Given the description of an element on the screen output the (x, y) to click on. 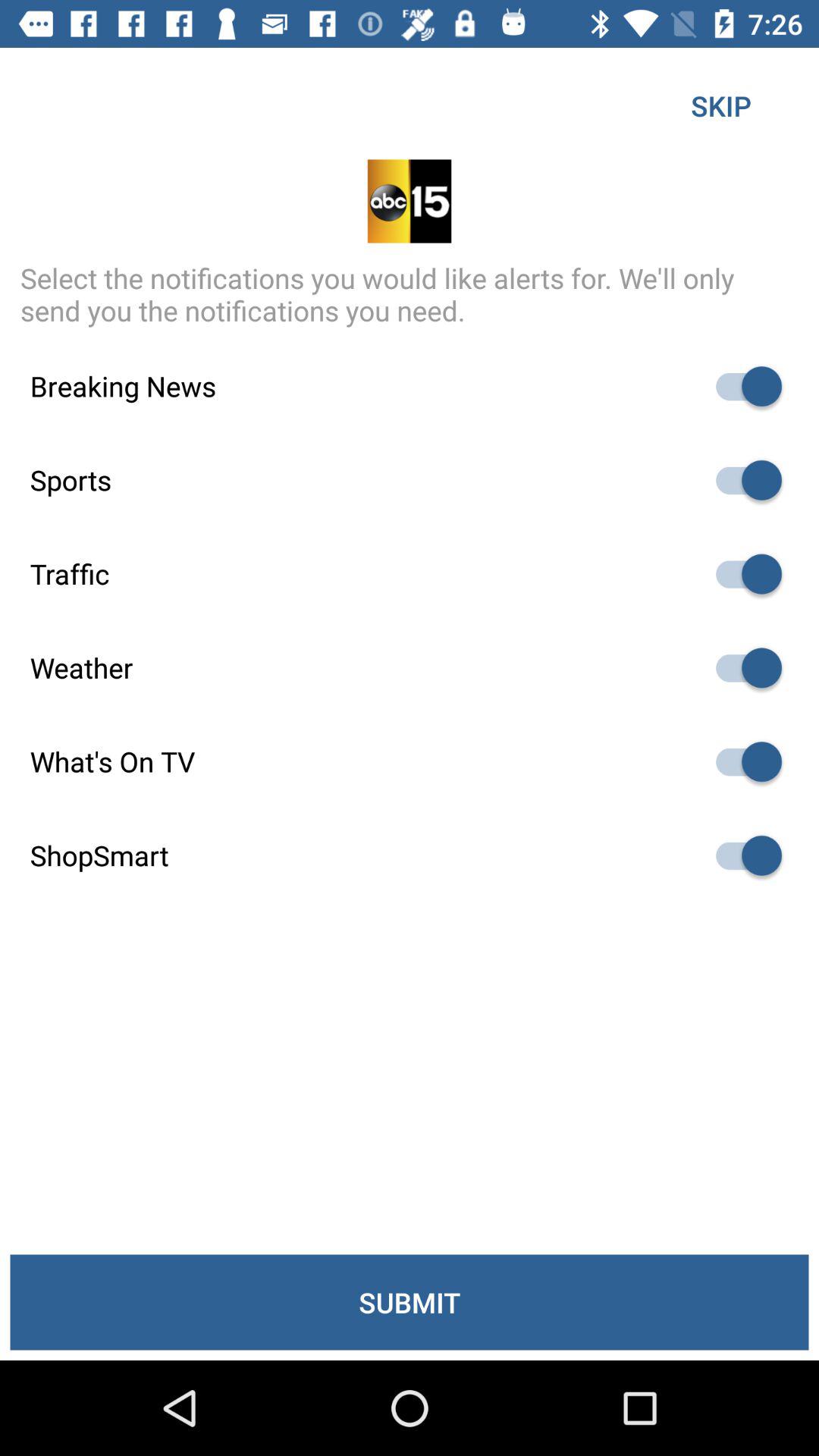
jump until the skip item (720, 105)
